Given the description of an element on the screen output the (x, y) to click on. 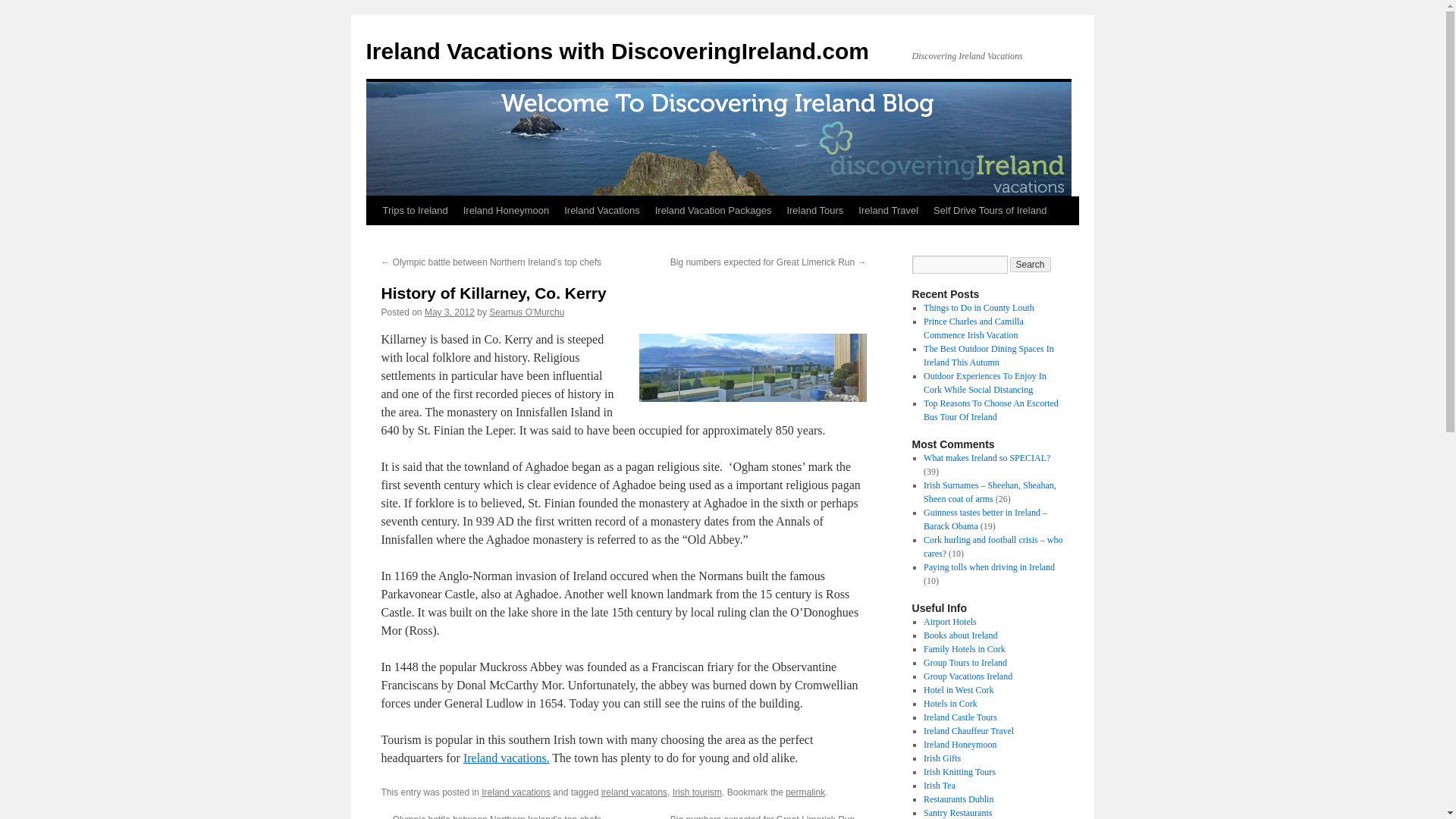
Seamus O'Murchu (526, 312)
Outdoor Experiences To Enjoy In Cork While Social Distancing (984, 382)
Ireland Travel (888, 210)
ireland vacatons (633, 792)
Paying tolls when driving in Ireland (988, 566)
Self Drive Tours of Ireland (990, 210)
Trips to Ireland (414, 210)
The Best Outdoor Dining Spaces In Ireland This Autumn (988, 355)
What makes Ireland so SPECIAL? (986, 457)
Search (1030, 264)
